Given the description of an element on the screen output the (x, y) to click on. 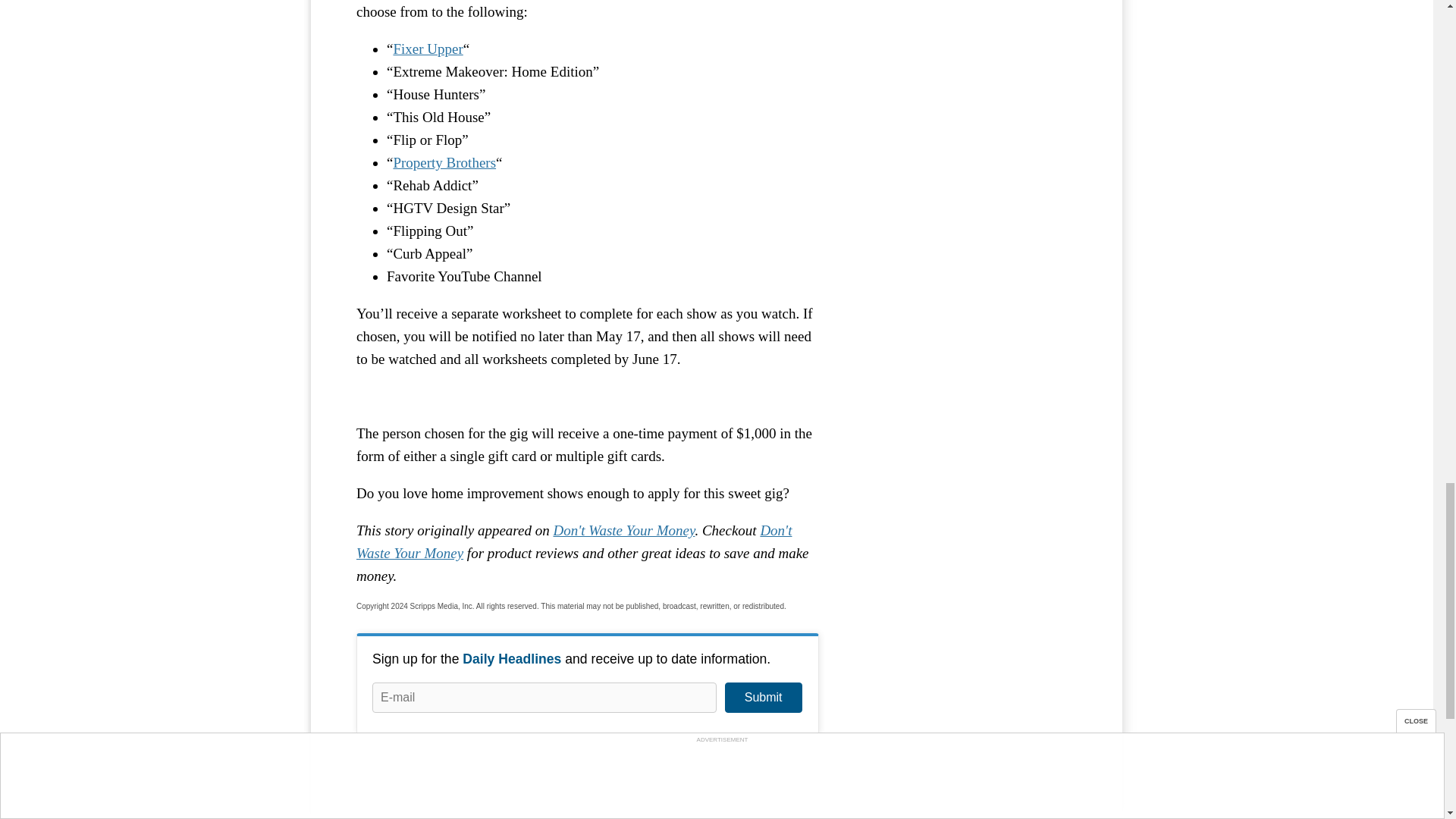
Submit (763, 697)
